Given the description of an element on the screen output the (x, y) to click on. 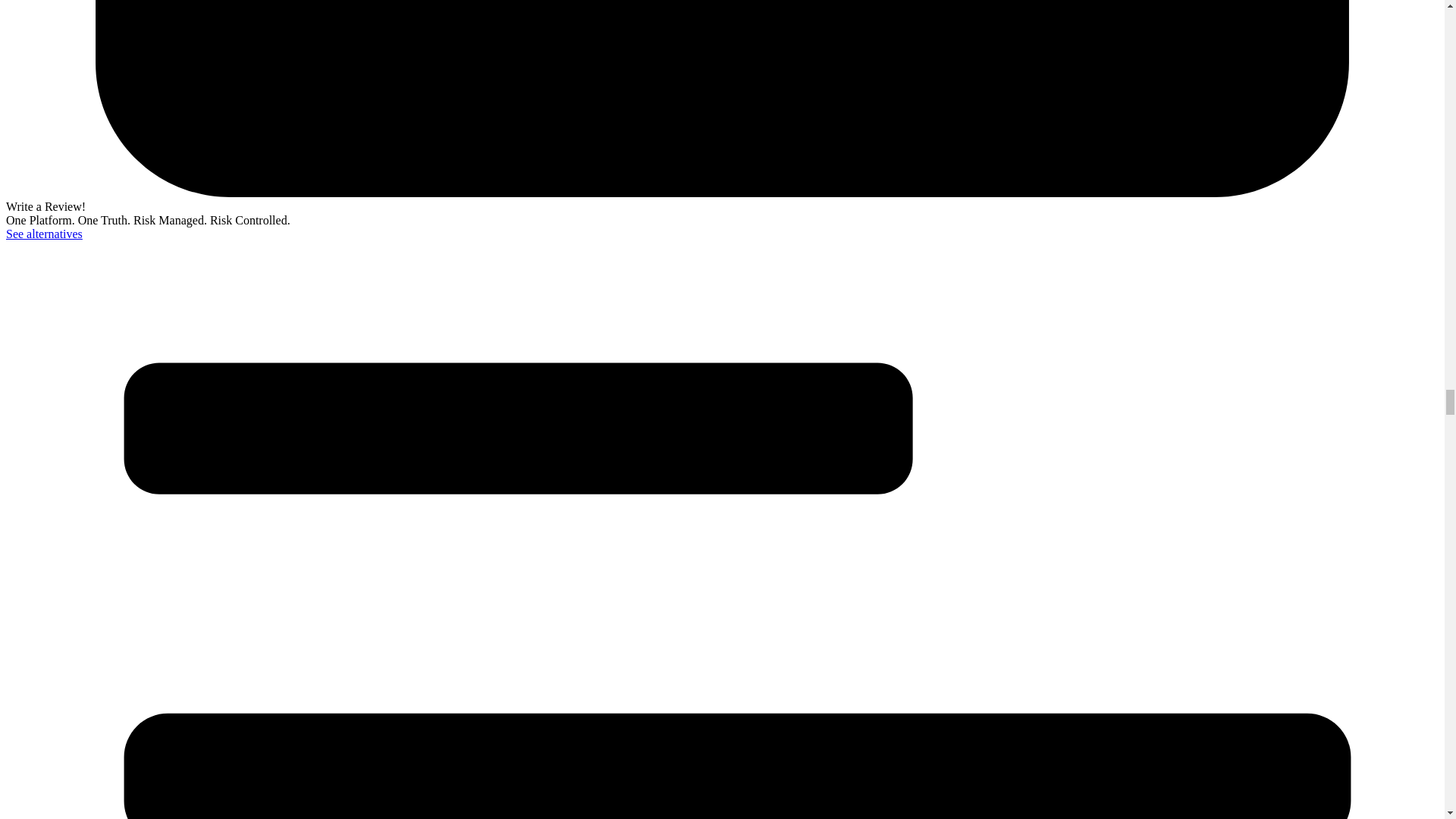
See alternatives (43, 233)
